Given the description of an element on the screen output the (x, y) to click on. 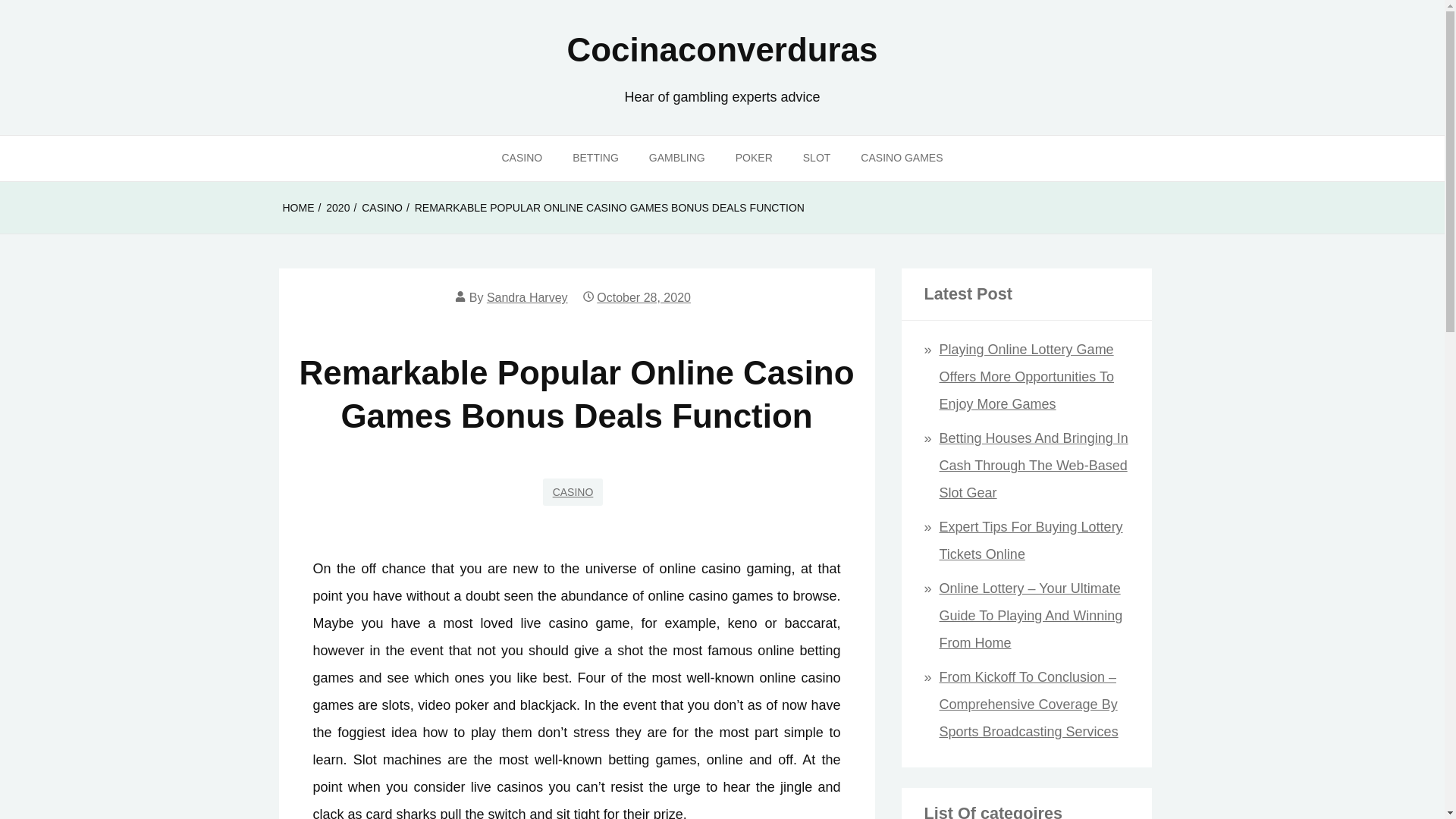
CASINO (521, 157)
Expert Tips For Buying Lottery Tickets Online (1030, 540)
REMARKABLE POPULAR ONLINE CASINO GAMES BONUS DEALS FUNCTION (609, 207)
POKER (753, 157)
Cocinaconverduras (722, 49)
Sandra Harvey (526, 297)
October 28, 2020 (643, 297)
HOME (298, 207)
CASINO (573, 492)
